Given the description of an element on the screen output the (x, y) to click on. 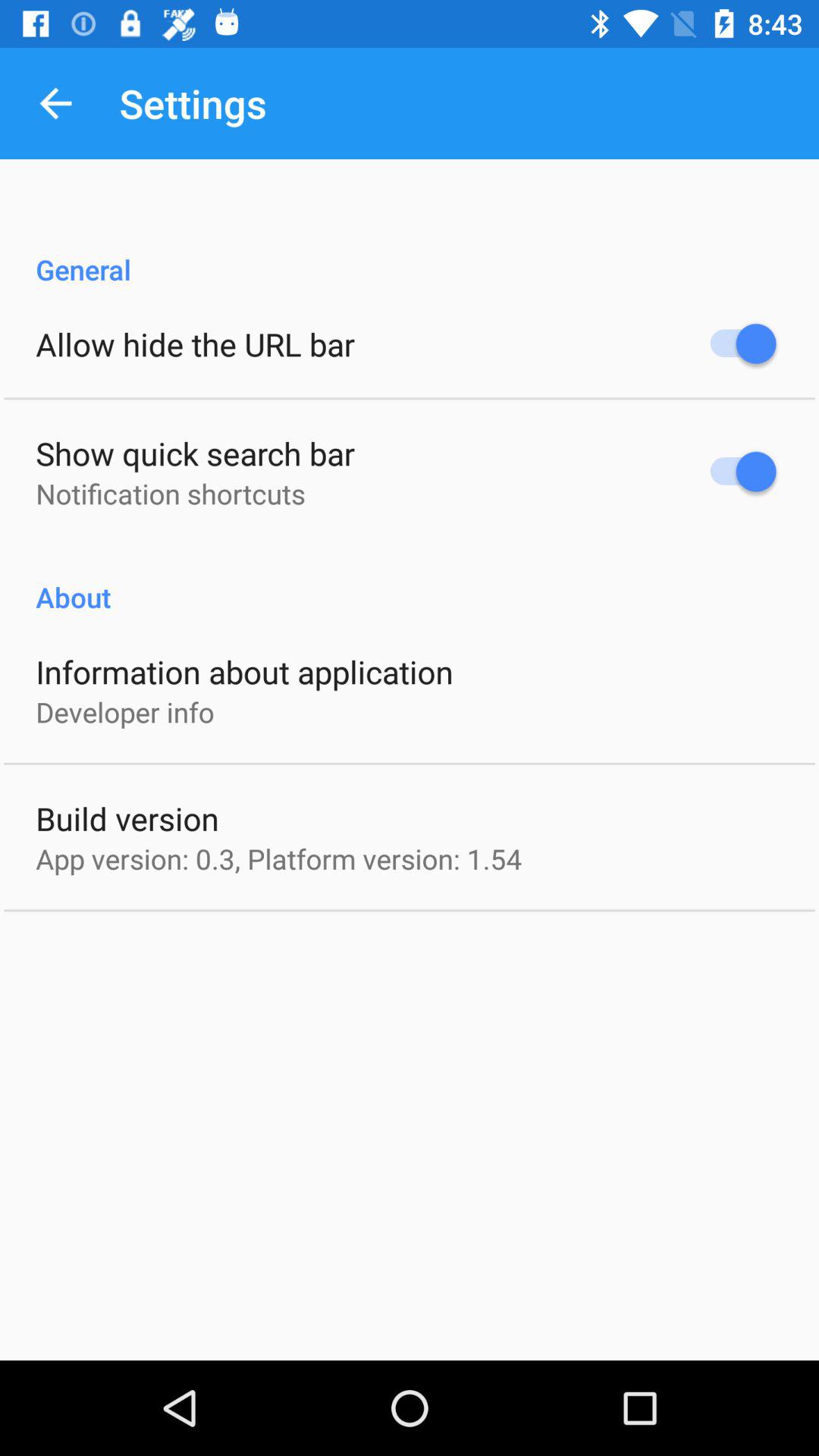
jump until app version 0 (278, 858)
